Given the description of an element on the screen output the (x, y) to click on. 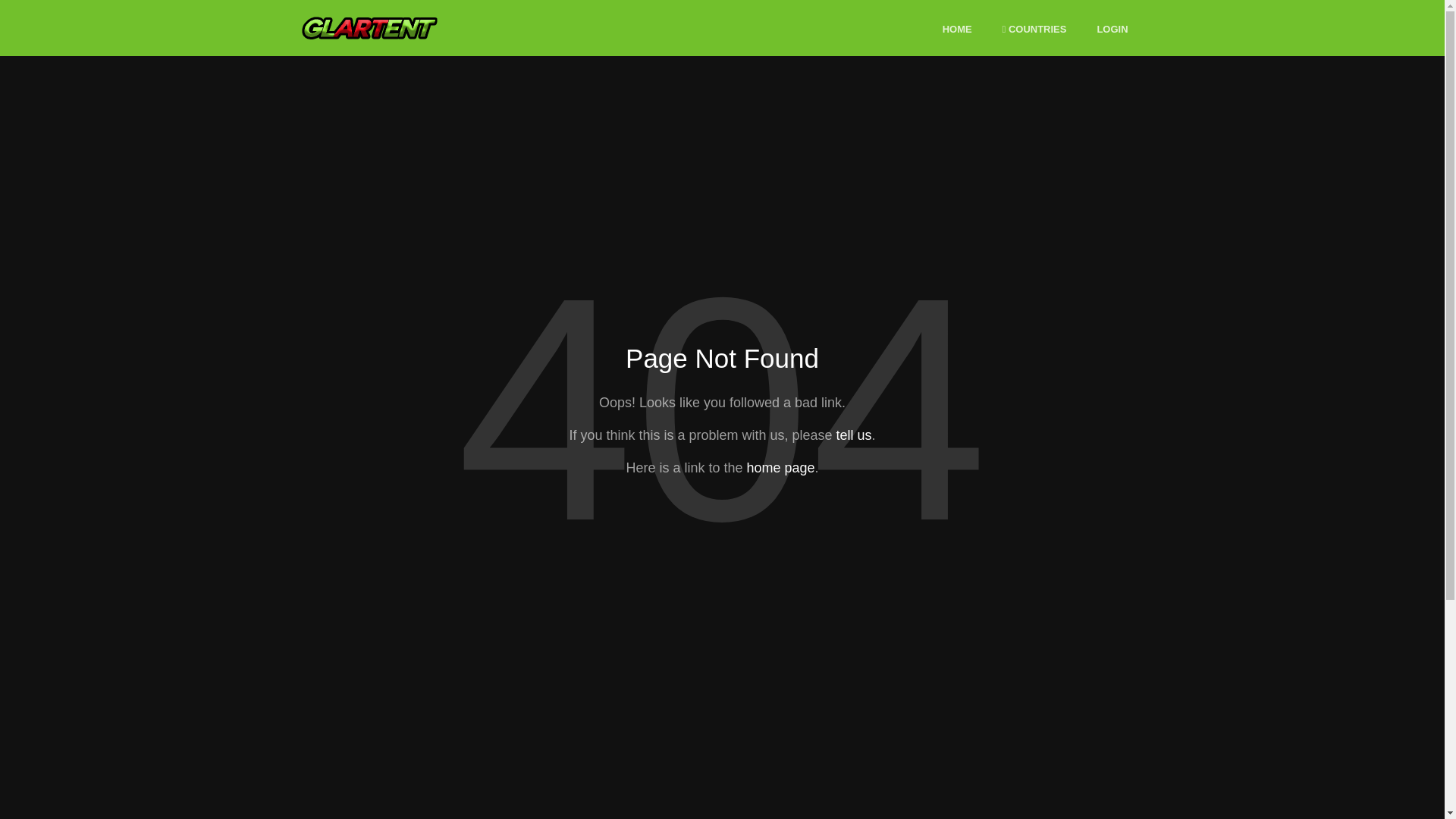
tell us (852, 435)
home page (779, 467)
HOME (957, 29)
